Given the description of an element on the screen output the (x, y) to click on. 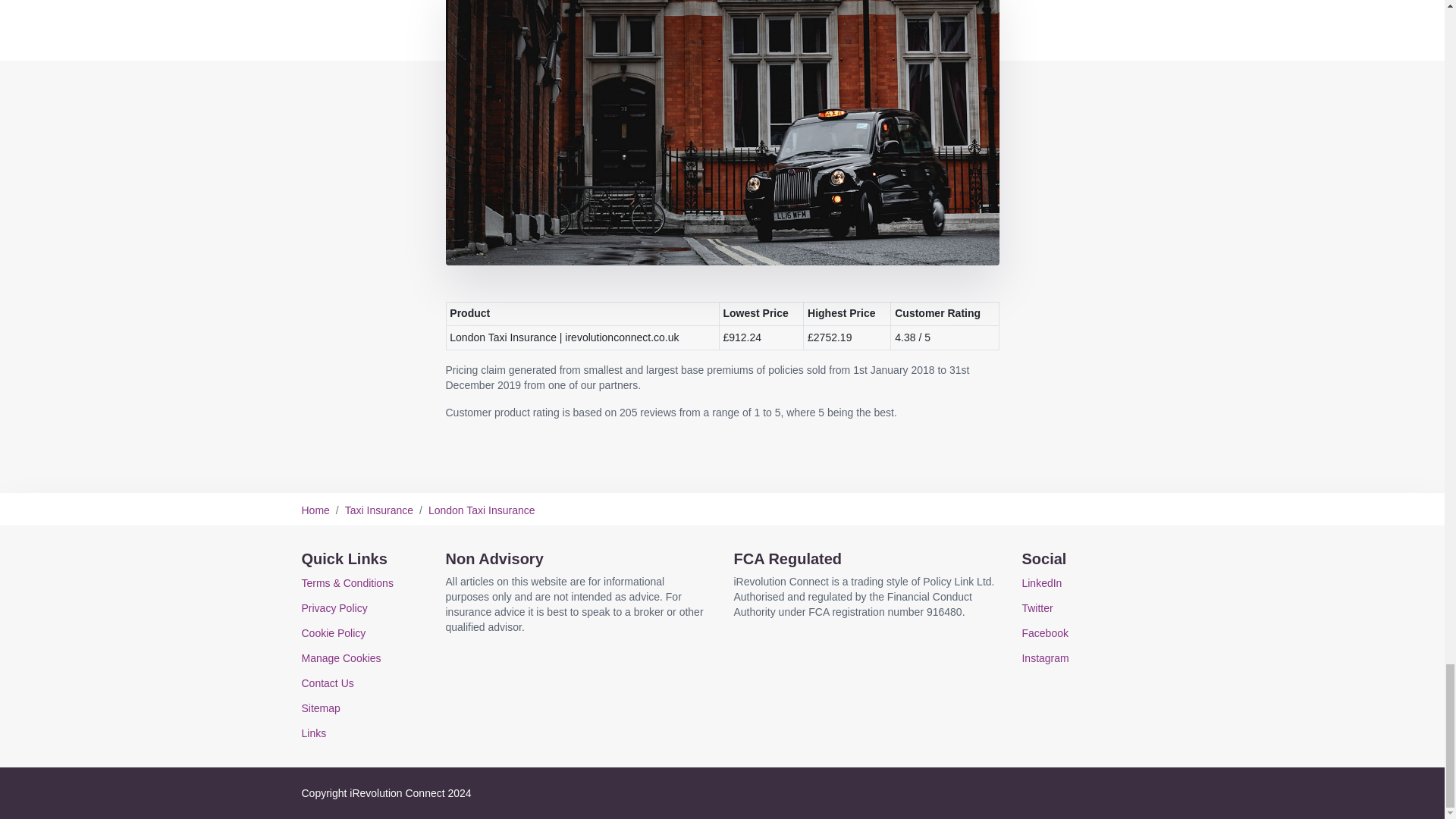
Taxi Insurance (379, 510)
Twitter (1037, 607)
Home (315, 510)
Manage Cookies (341, 657)
Privacy Policy (334, 607)
LinkedIn (1041, 582)
London Taxi Insurance (481, 510)
Links (313, 733)
Facebook (1044, 633)
Sitemap (320, 707)
Cookie Policy (333, 633)
Contact Us (327, 683)
